Given the description of an element on the screen output the (x, y) to click on. 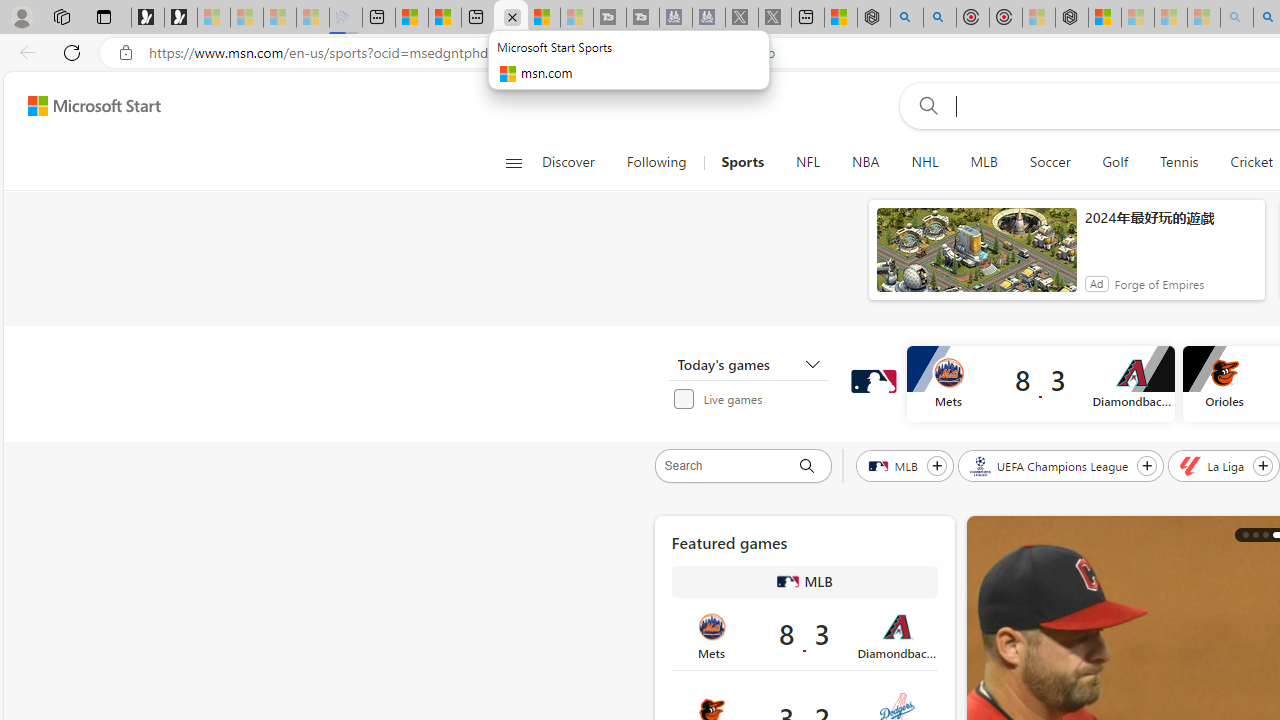
Forge of Empires (1158, 283)
Follow MLB (936, 465)
NFL (808, 162)
Today's games (748, 364)
La Liga (1213, 465)
NHL (925, 162)
UEFA Champions League (1050, 465)
Open navigation menu (513, 162)
